Given the description of an element on the screen output the (x, y) to click on. 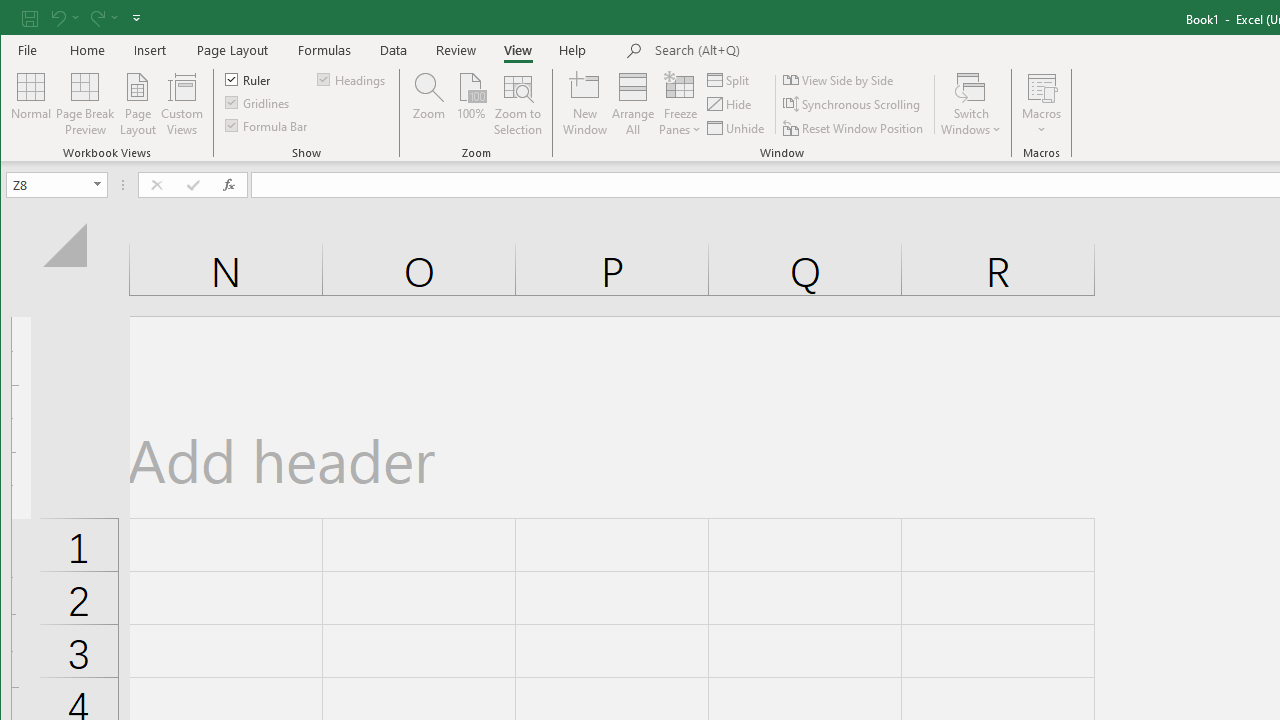
Unhide... (737, 127)
Custom Views... (182, 104)
View Side by Side (839, 80)
New Window (585, 104)
Headings (352, 78)
Macros (1041, 104)
